Given the description of an element on the screen output the (x, y) to click on. 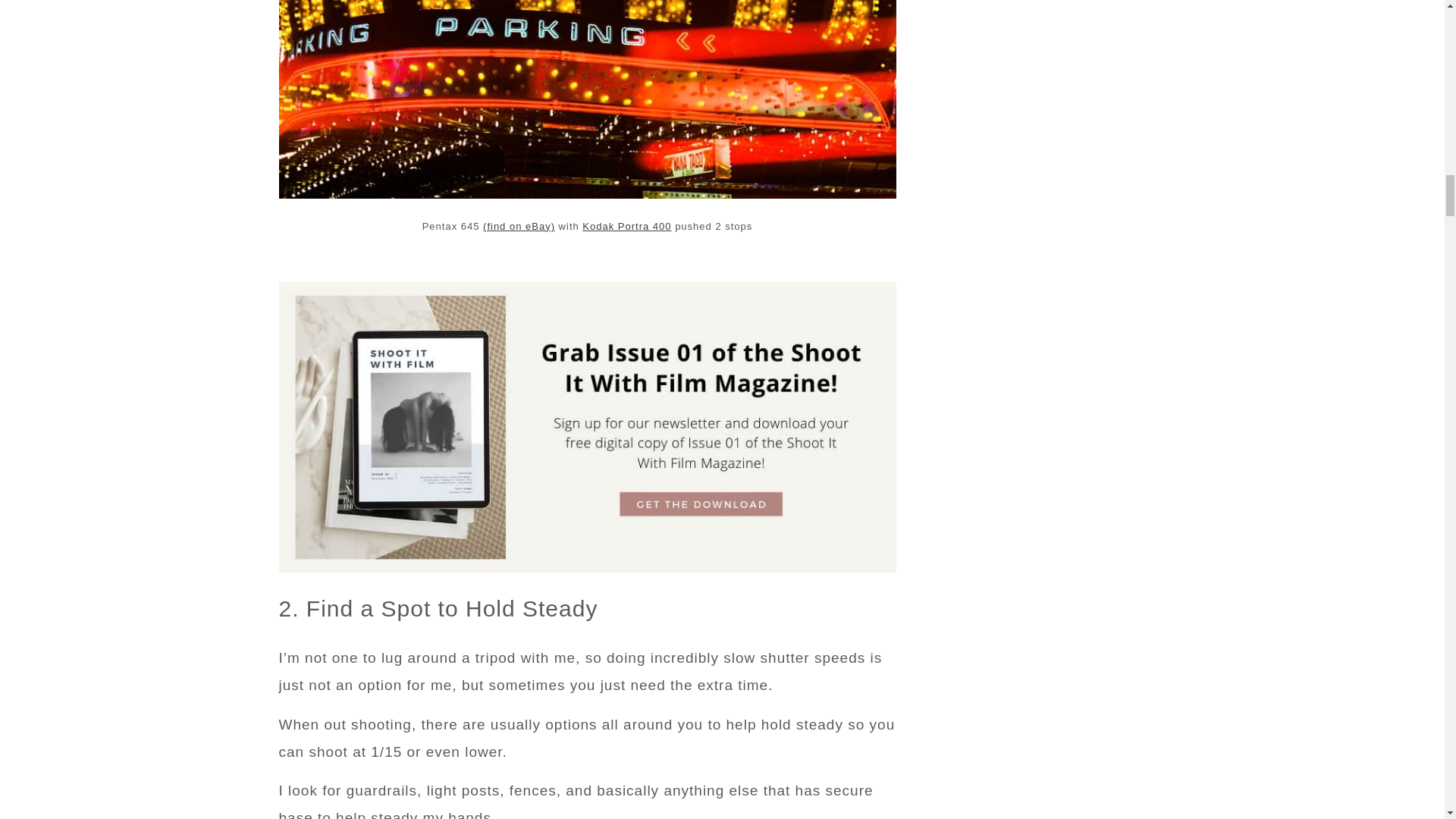
Kodak Portra 400 (626, 225)
